Given the description of an element on the screen output the (x, y) to click on. 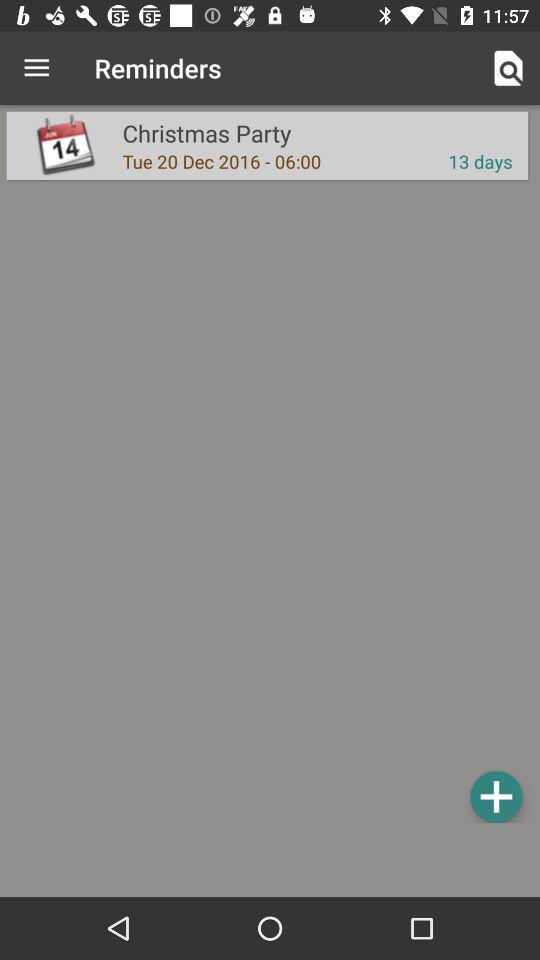
add reminder (496, 796)
